Given the description of an element on the screen output the (x, y) to click on. 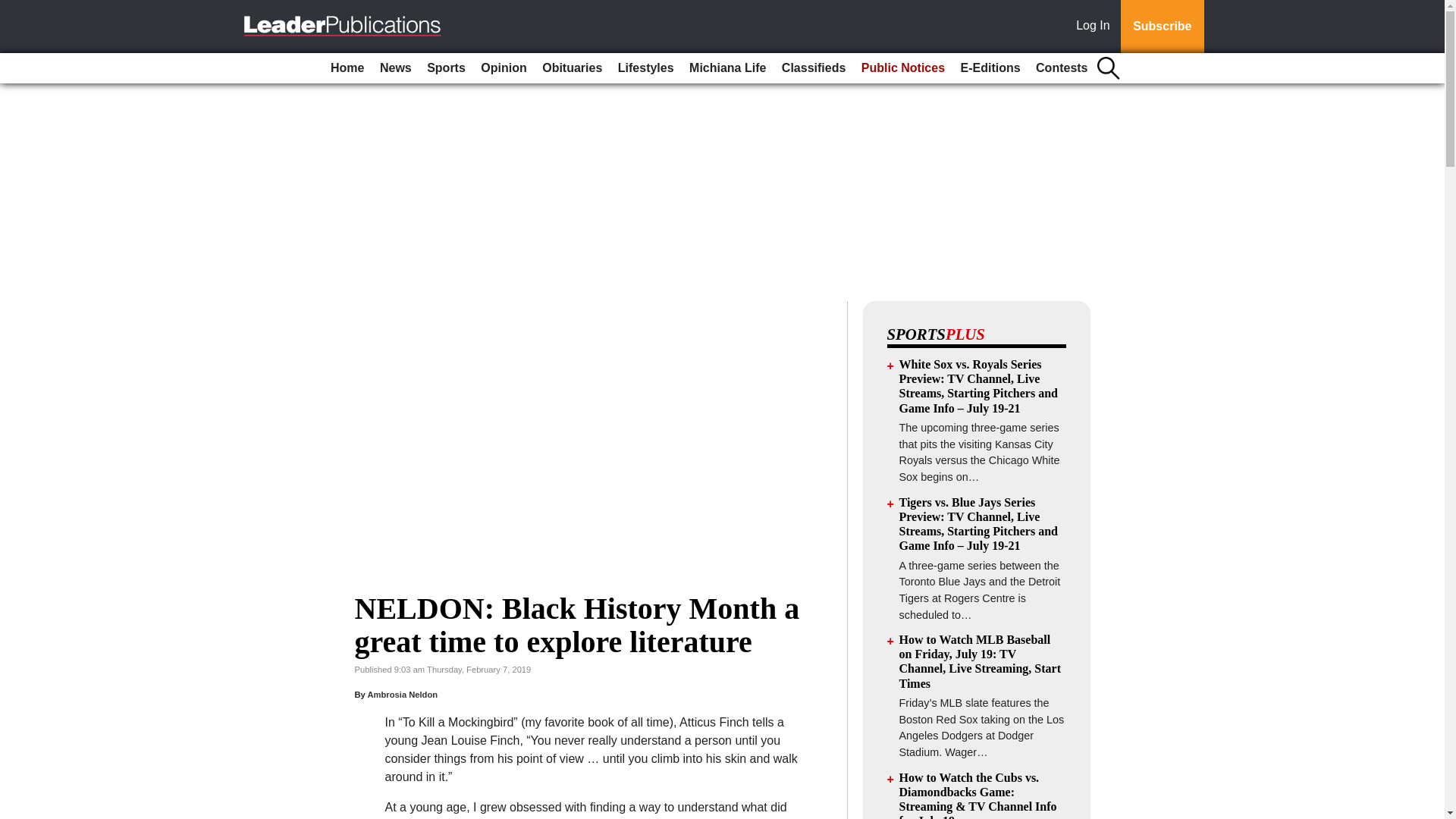
E-Editions (989, 68)
Lifestyles (645, 68)
News (395, 68)
Opinion (503, 68)
Subscribe (1162, 26)
Obituaries (571, 68)
Michiana Life (726, 68)
Classifieds (813, 68)
Ambrosia Neldon (402, 694)
Public Notices (903, 68)
Sports (445, 68)
Home (346, 68)
Contests (1061, 68)
Go (13, 9)
